Given the description of an element on the screen output the (x, y) to click on. 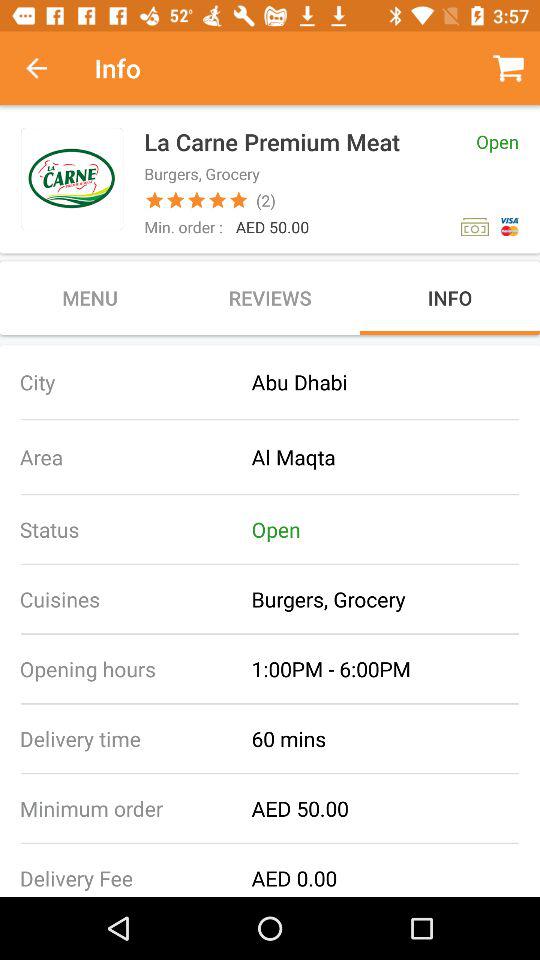
go to previous (47, 68)
